Given the description of an element on the screen output the (x, y) to click on. 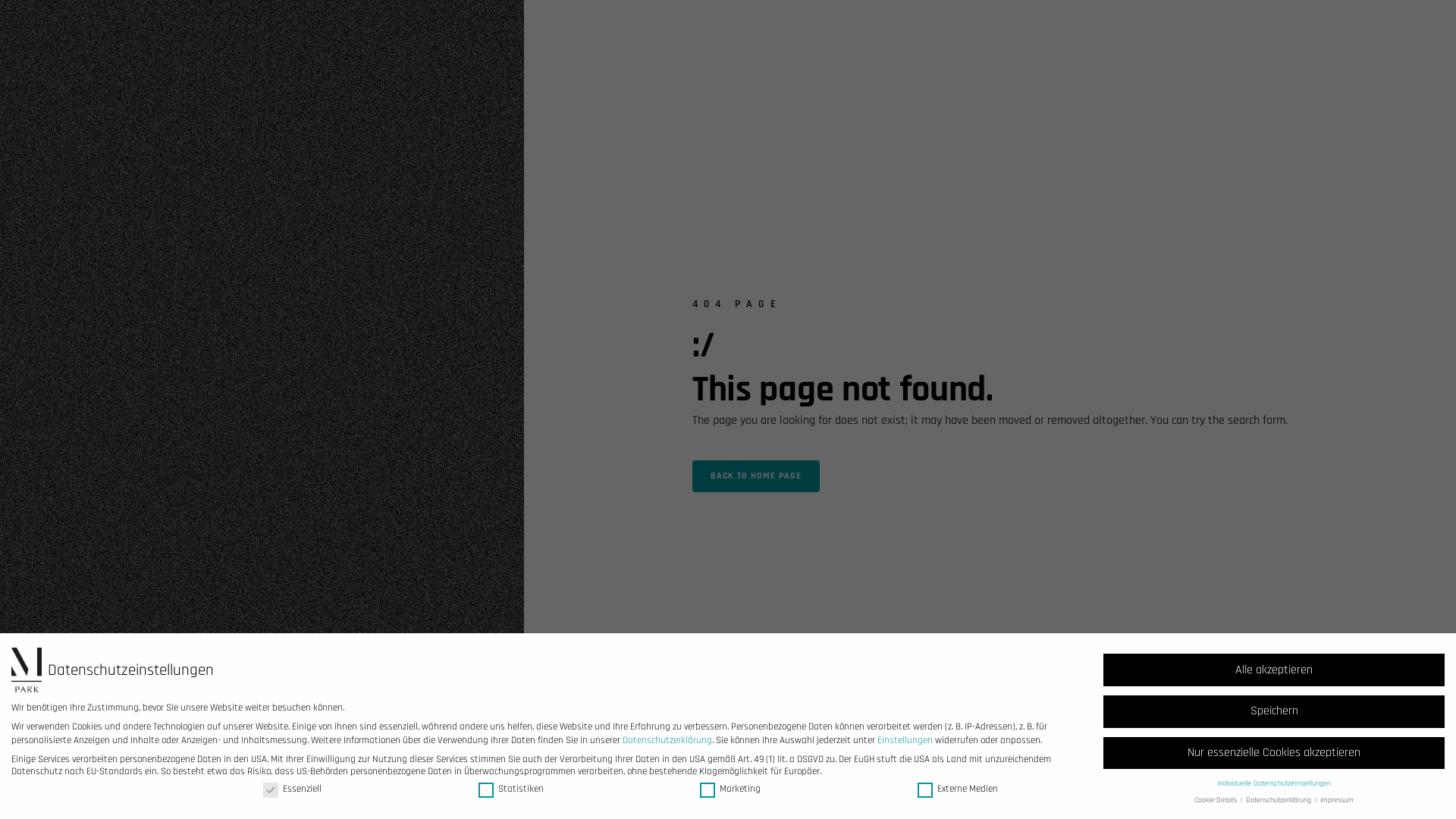
BACK TO HOME PAGE Element type: text (755, 476)
Alle akzeptieren Element type: text (1273, 669)
Nur essenzielle Cookies akzeptieren Element type: text (1273, 753)
Speichern Element type: text (1273, 711)
Impressum Element type: text (1336, 799)
Individuelle Datenschutzeinstellungen Element type: text (1273, 782)
Cookie-Details Element type: text (1216, 799)
Einstellungen Element type: text (904, 740)
